Given the description of an element on the screen output the (x, y) to click on. 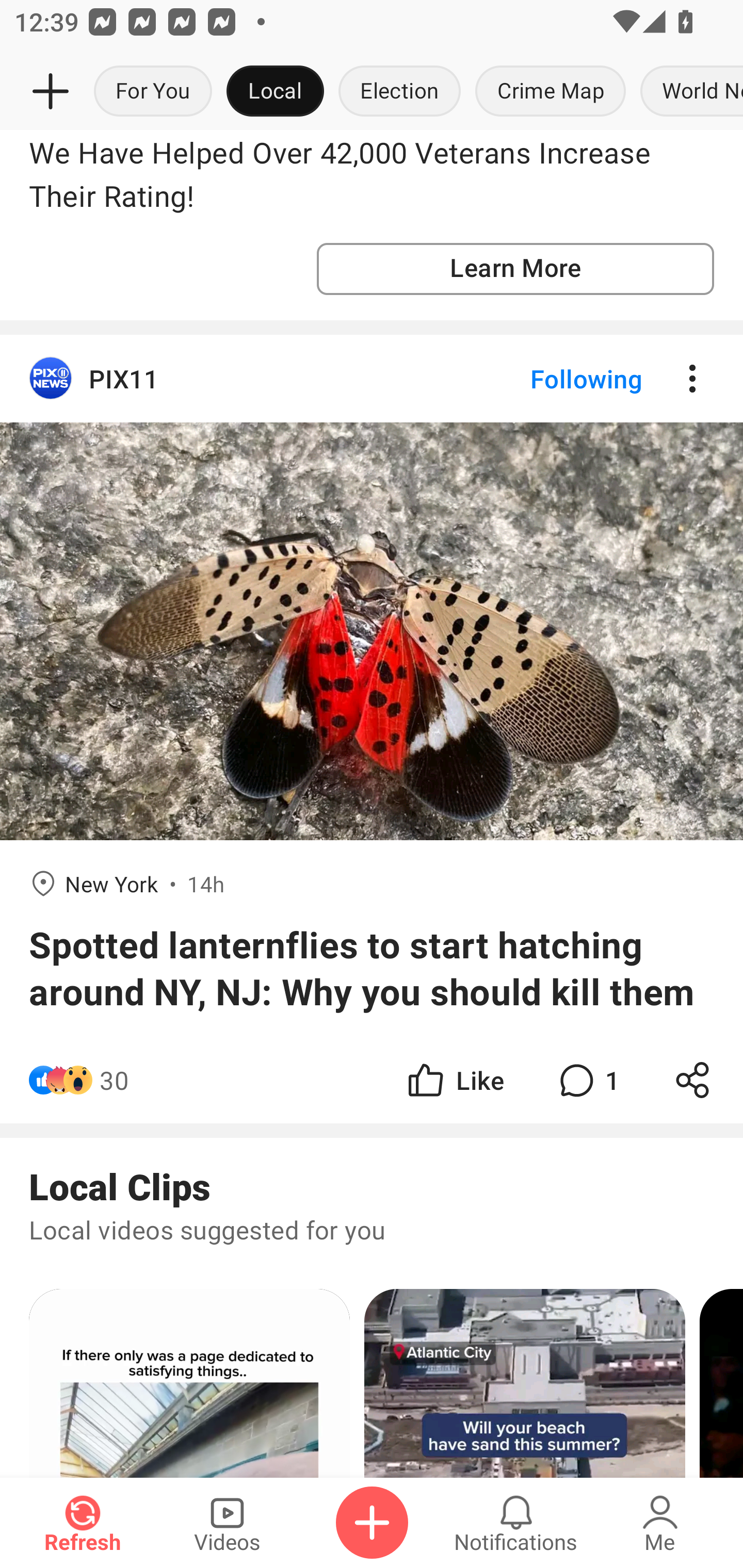
For You (152, 91)
Local (275, 91)
Election (399, 91)
Crime Map (550, 91)
World News (688, 91)
Learn More (515, 268)
PIX11 Following (371, 377)
Following (569, 377)
30 (114, 1079)
Like (454, 1079)
1 (587, 1079)
Videos (227, 1522)
Notifications (516, 1522)
Me (659, 1522)
